Given the description of an element on the screen output the (x, y) to click on. 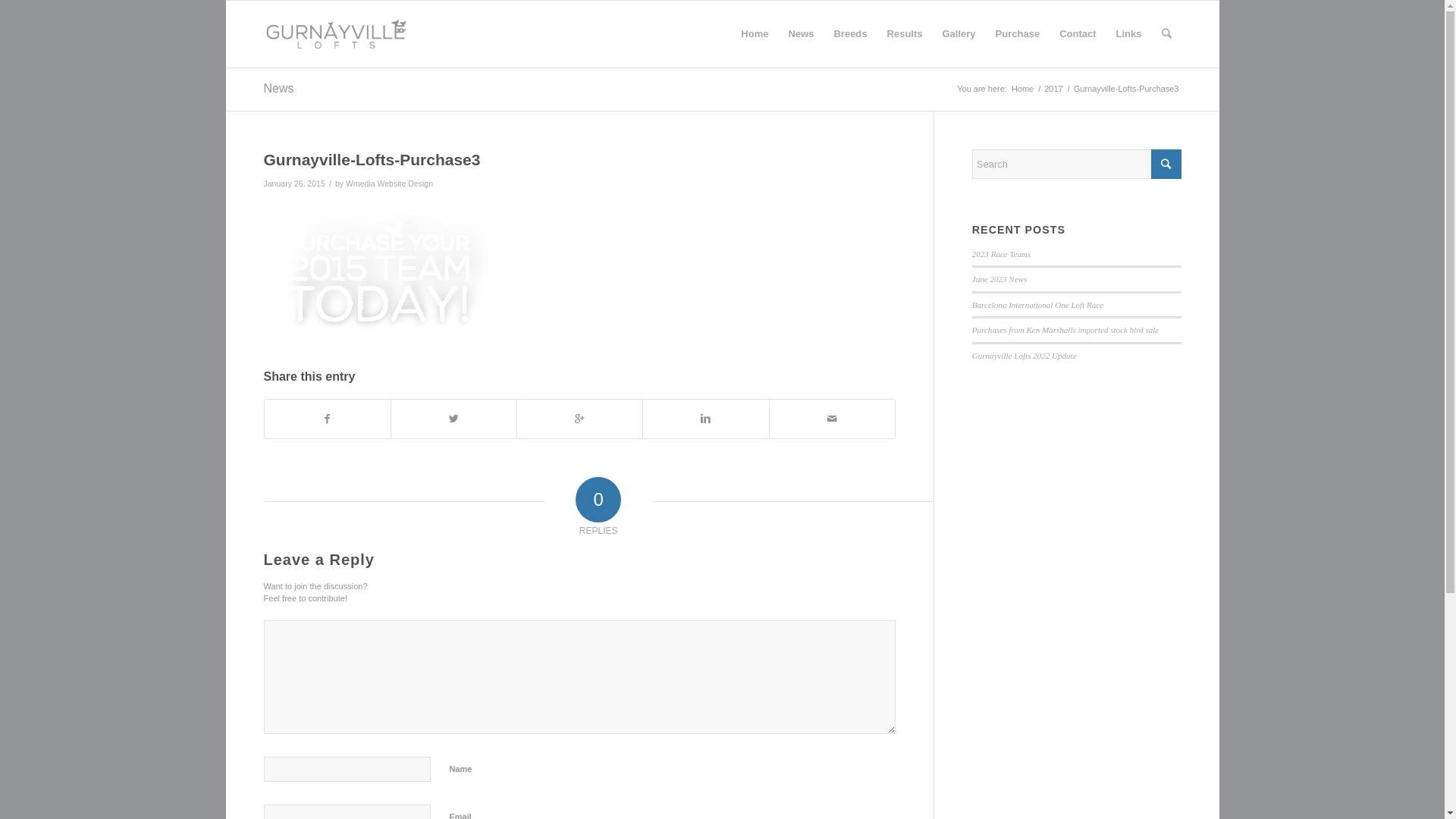
Results Element type: text (904, 33)
Wmedia Website Design Element type: text (389, 183)
2023 Race Teams Element type: text (1001, 253)
News Element type: text (278, 87)
Barcelona International One Loft Race Element type: text (1037, 304)
Home Element type: text (754, 33)
2017 Element type: text (1052, 88)
Purchase Element type: text (1017, 33)
Breeds Element type: text (849, 33)
June 2023 News Element type: text (999, 278)
Purchases from Ken Marshalls imported stock bird sale Element type: text (1065, 329)
Home Element type: text (1022, 88)
Contact Element type: text (1077, 33)
Links Element type: text (1128, 33)
Gurnayville-Lofts-Purchase3 Element type: text (371, 159)
News Element type: text (800, 33)
Gurnayville Lofts 2022 Update Element type: text (1024, 355)
Gallery Element type: text (958, 33)
